Given the description of an element on the screen output the (x, y) to click on. 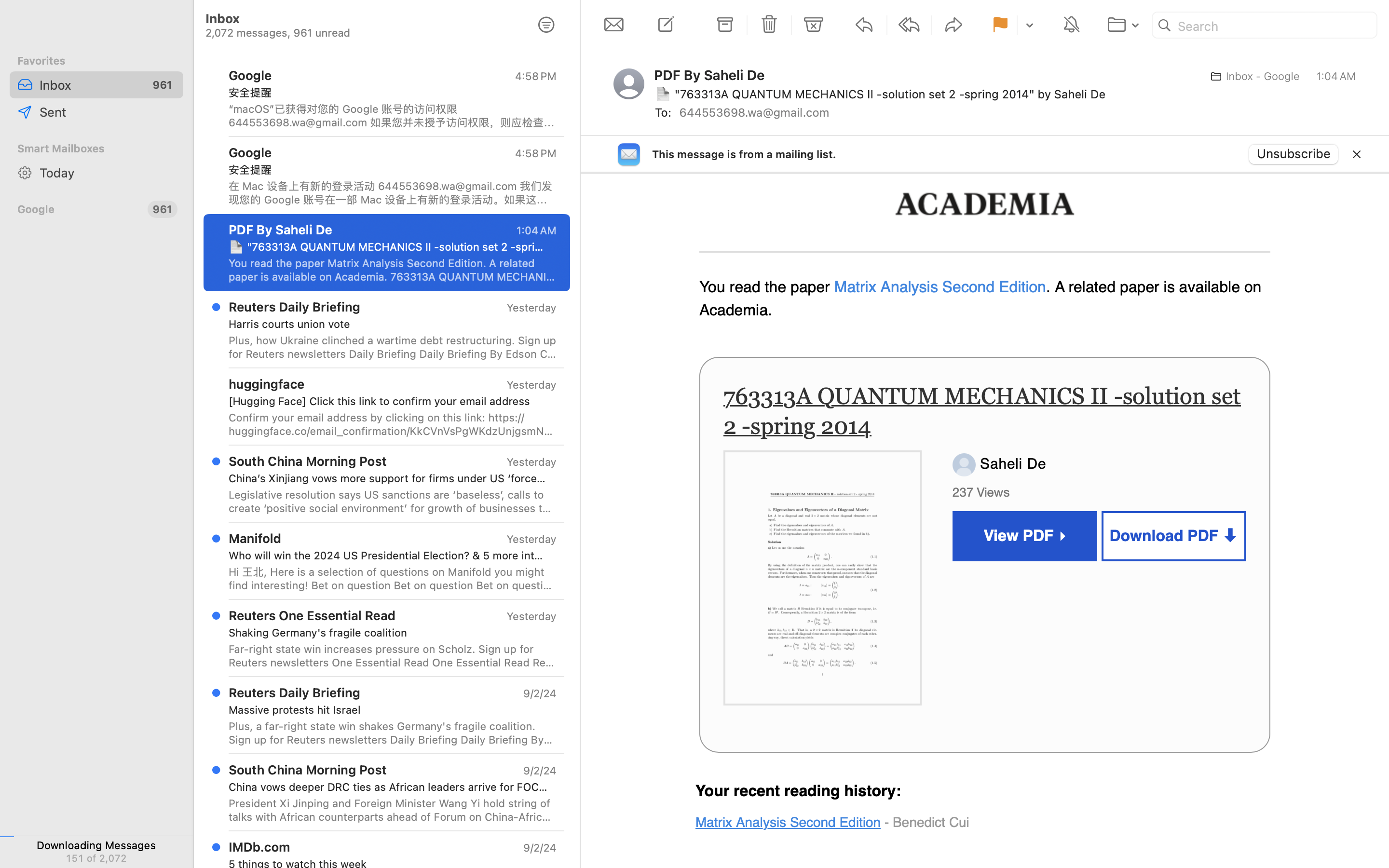
- Benedict Cui Element type: AXStaticText (925, 821)
huggingface Element type: AXStaticText (266, 383)
Manifold Element type: AXStaticText (254, 537)
You read the paper Matrix Analysis Second Edition. A related paper is available on Academia. 763313A QUANTUM MECHANICS II -solution set 2 -spring 2014 Saheli De 237 Views View PDF ▸ Download PDF ⬇ Your recent reading history: Matrix Analysis Second Edition - Benedict Cui Want fewer recommendations like this one? 580 California St., Suite 400, San Francisco, CA, 94104 Unsubscribe Privacy Policy Terms of Service © 2024 Academia Element type: AXStaticText (392, 269)
安全提醒 Element type: AXStaticText (388, 92)
